Given the description of an element on the screen output the (x, y) to click on. 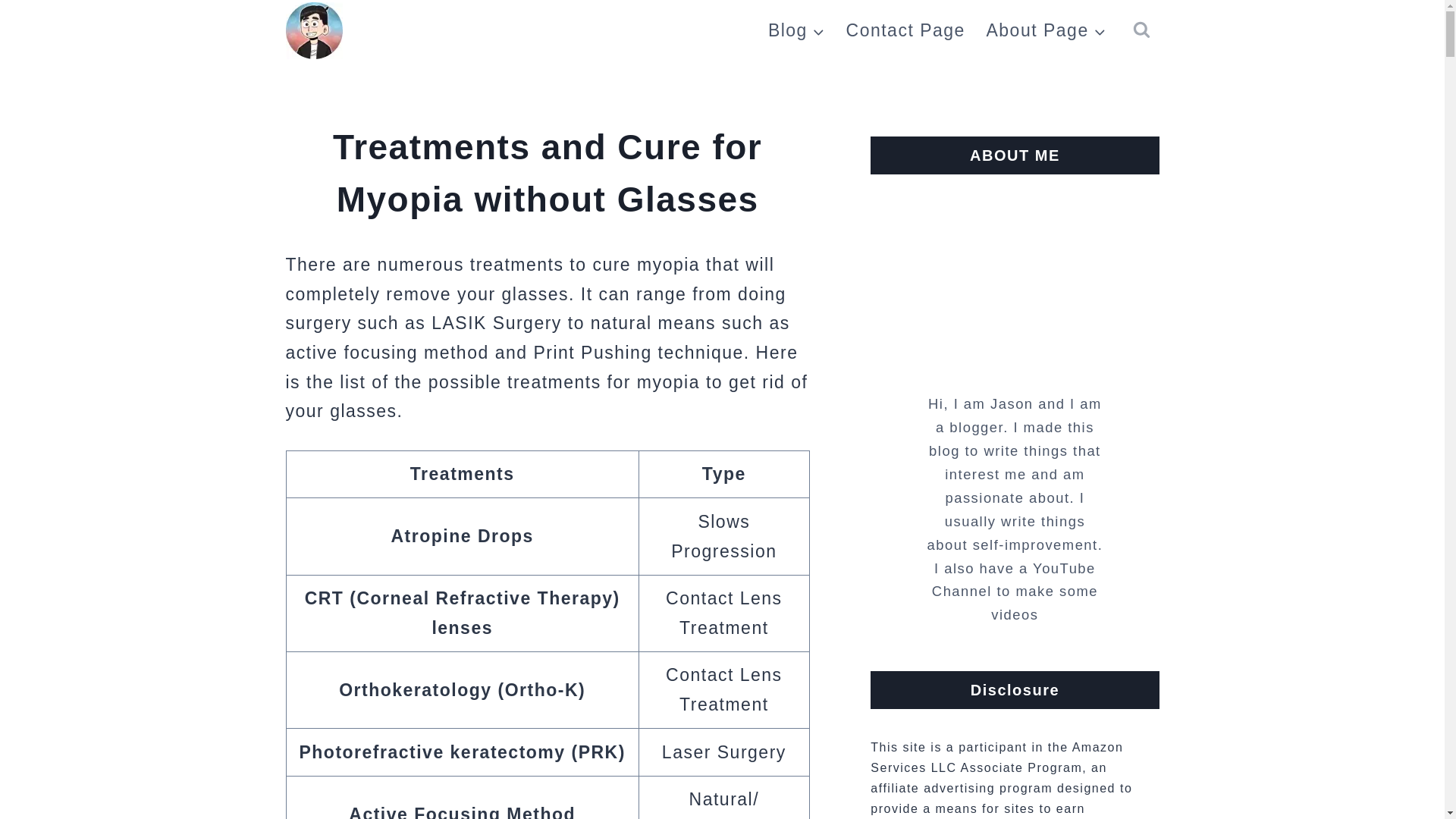
Blog (796, 29)
About Page (1045, 29)
Contact Page (905, 29)
